Given the description of an element on the screen output the (x, y) to click on. 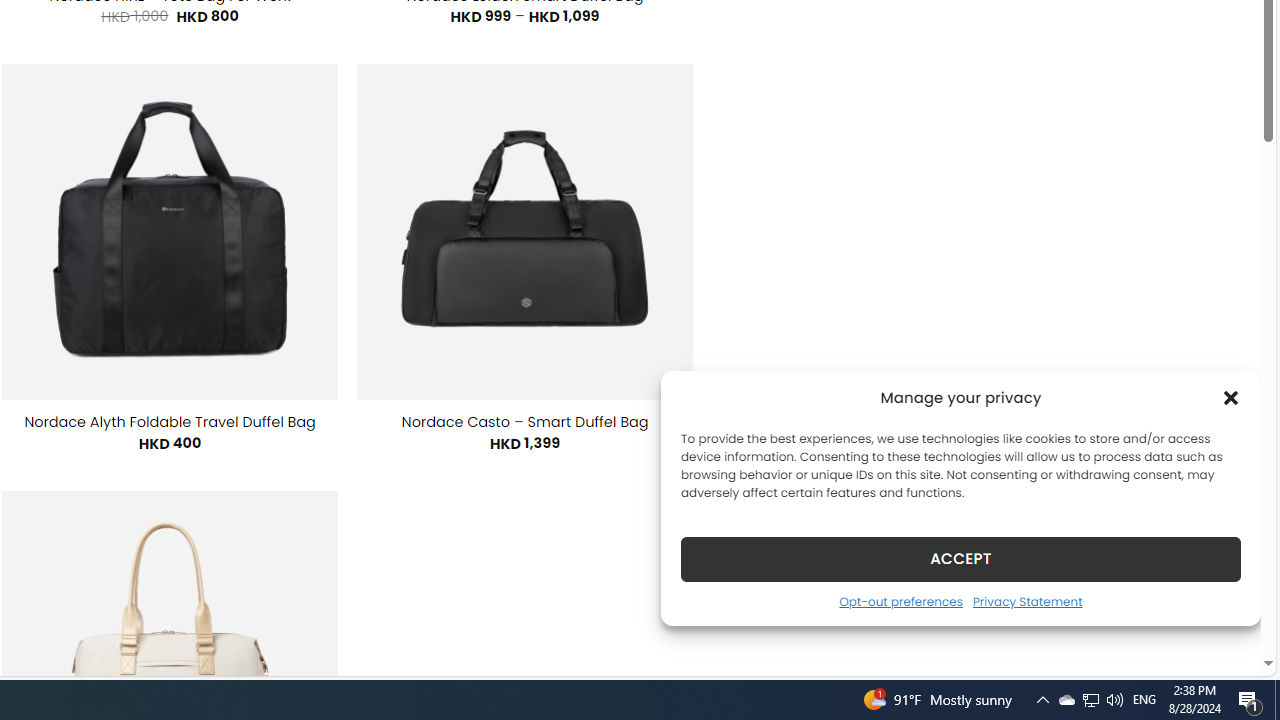
Privacy Statement (1026, 601)
Nordace Alyth Foldable Travel Duffel Bag (170, 422)
ACCEPT (960, 558)
Opt-out preferences (900, 601)
Class: cmplz-close (1231, 397)
